Given the description of an element on the screen output the (x, y) to click on. 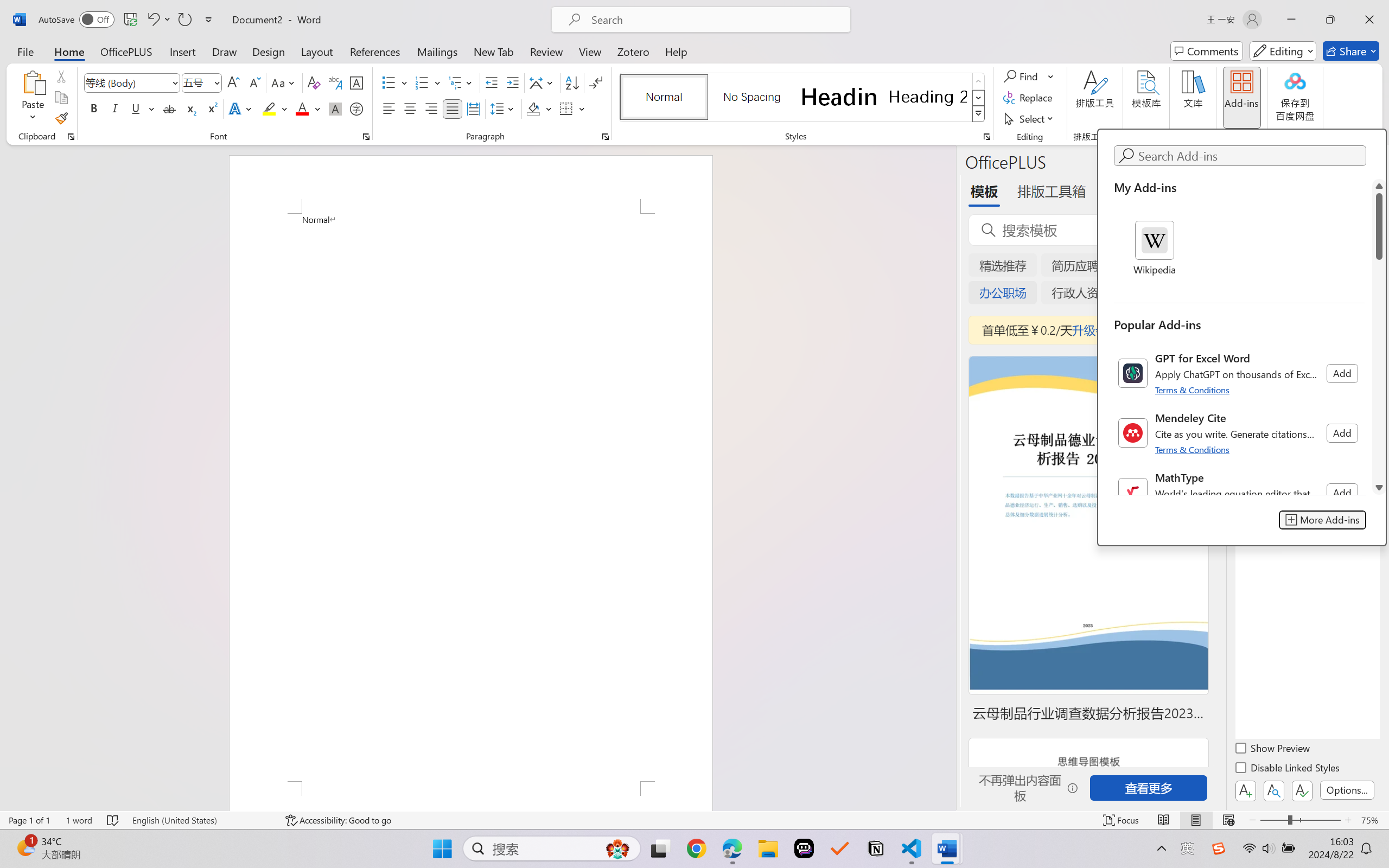
Undo Apply Quick Style (152, 19)
Layout (316, 51)
